Given the description of an element on the screen output the (x, y) to click on. 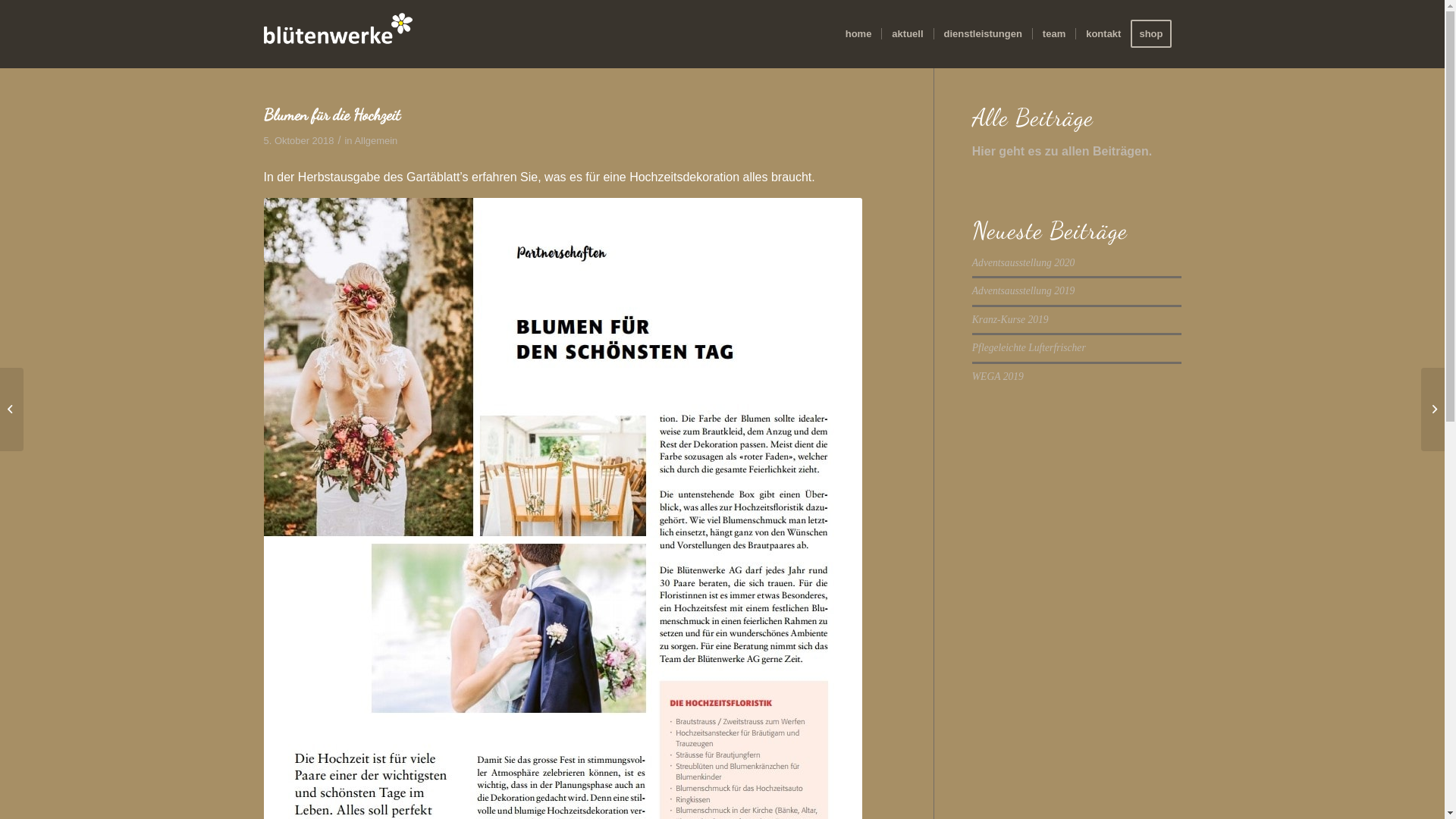
Adventsausstellung 2019 Element type: text (1023, 290)
kontakt Element type: text (1102, 34)
Kranz-Kurse 2019 Element type: text (1010, 319)
dienstleistungen Element type: text (982, 34)
logo-internet-weiss Element type: hover (337, 34)
aktuell Element type: text (906, 34)
WEGA 2019 Element type: text (997, 376)
Allgemein Element type: text (375, 140)
Pflegeleichte Lufterfrischer Element type: text (1028, 347)
shop Element type: text (1155, 34)
Adventsausstellung 2020 Element type: text (1023, 262)
home Element type: text (858, 34)
team Element type: text (1053, 34)
